Given the description of an element on the screen output the (x, y) to click on. 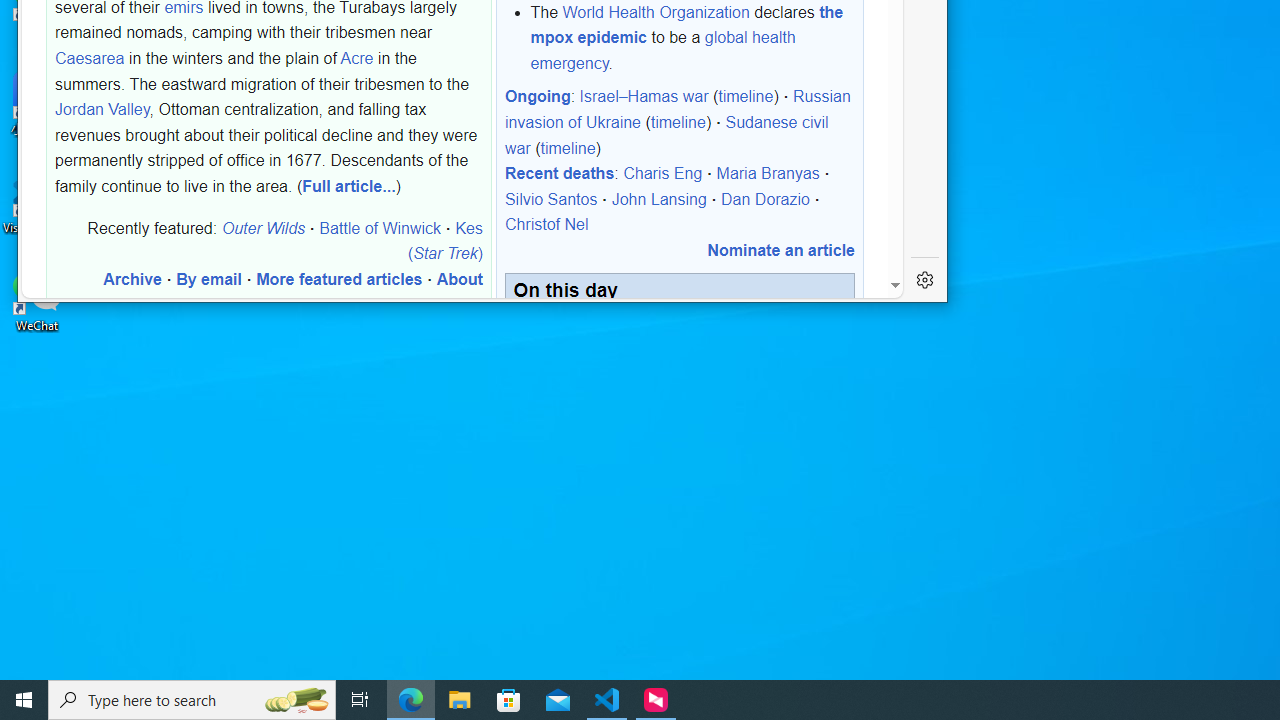
Start (24, 699)
Microsoft Store (509, 699)
Visual Studio Code - 1 running window (607, 699)
Microsoft Edge - 1 running window (411, 699)
File Explorer (460, 699)
Task View (359, 699)
Type here to search (191, 699)
Search highlights icon opens search home window (295, 699)
